Given the description of an element on the screen output the (x, y) to click on. 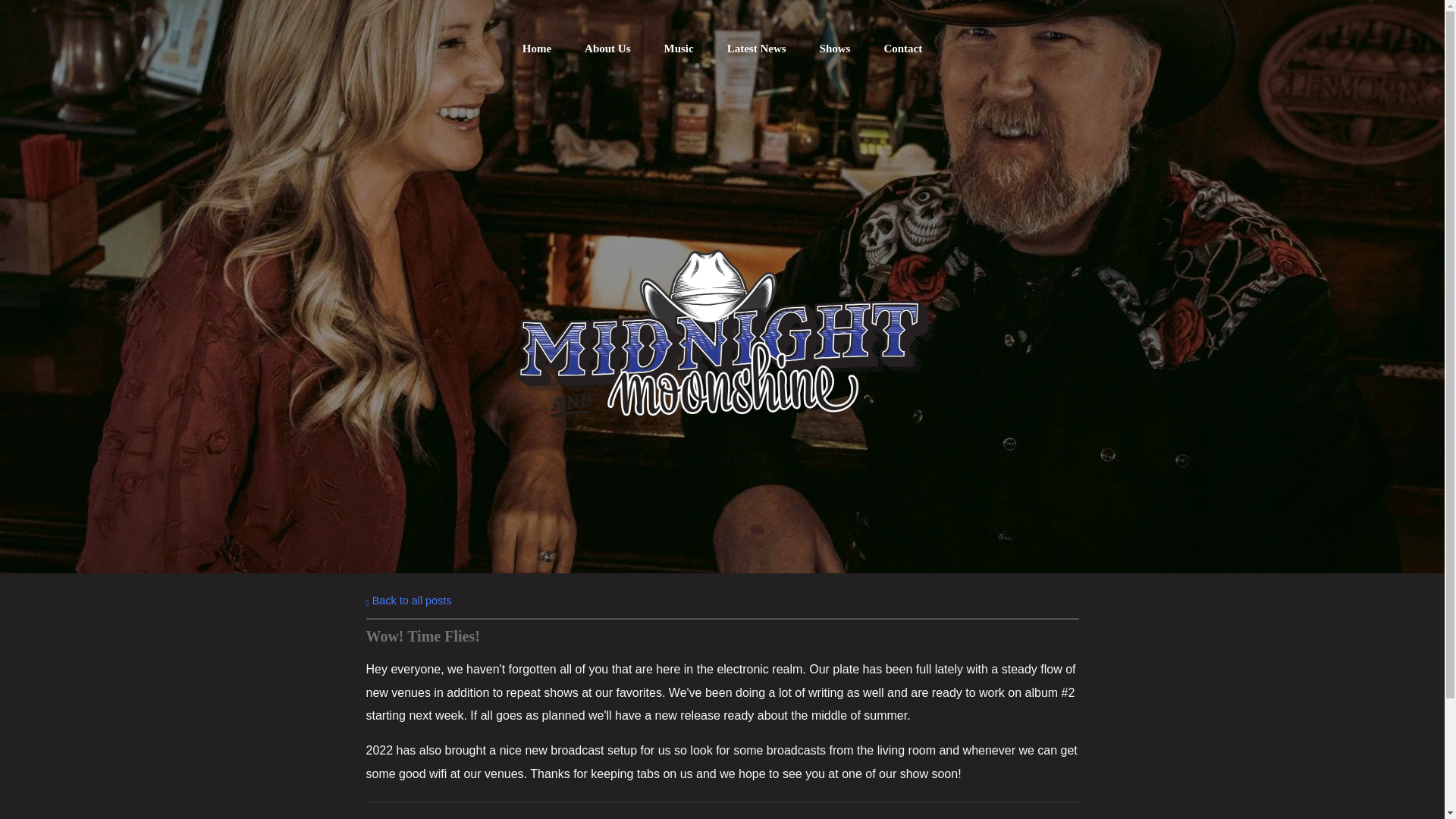
About Us (607, 49)
Latest News (756, 49)
Contact (902, 49)
Home (537, 49)
Shows (834, 49)
Music (678, 49)
Back to all posts (408, 600)
